Given the description of an element on the screen output the (x, y) to click on. 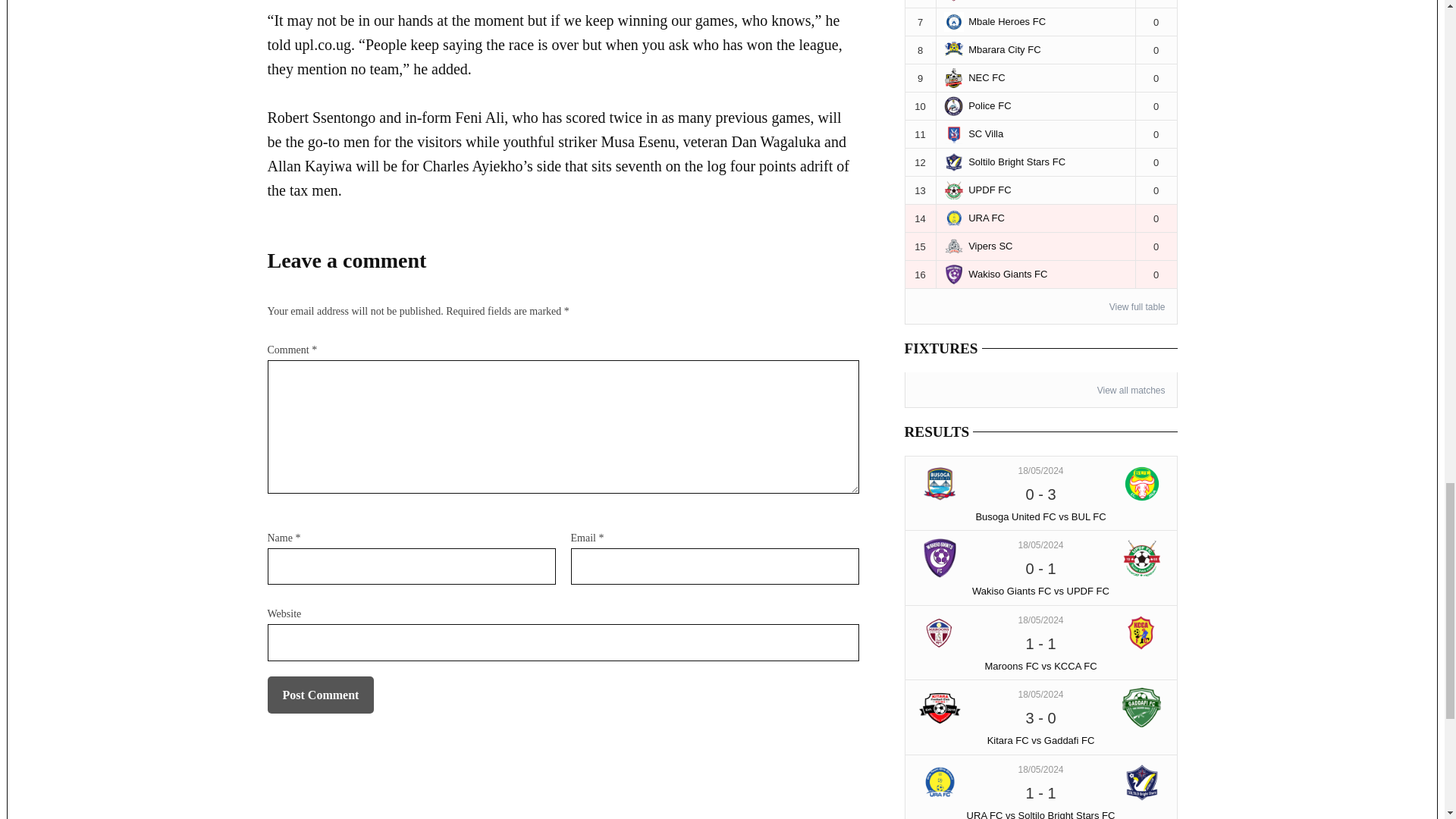
UPDF FC (1142, 558)
Maroons FC (940, 632)
Wakiso Giants FC (940, 558)
BUL FC (1142, 483)
URA FC (940, 782)
Busoga United FC (940, 483)
Soltilo Bright Stars FC (1142, 782)
KCCA FC (1142, 632)
Kitara FC (940, 707)
